Given the description of an element on the screen output the (x, y) to click on. 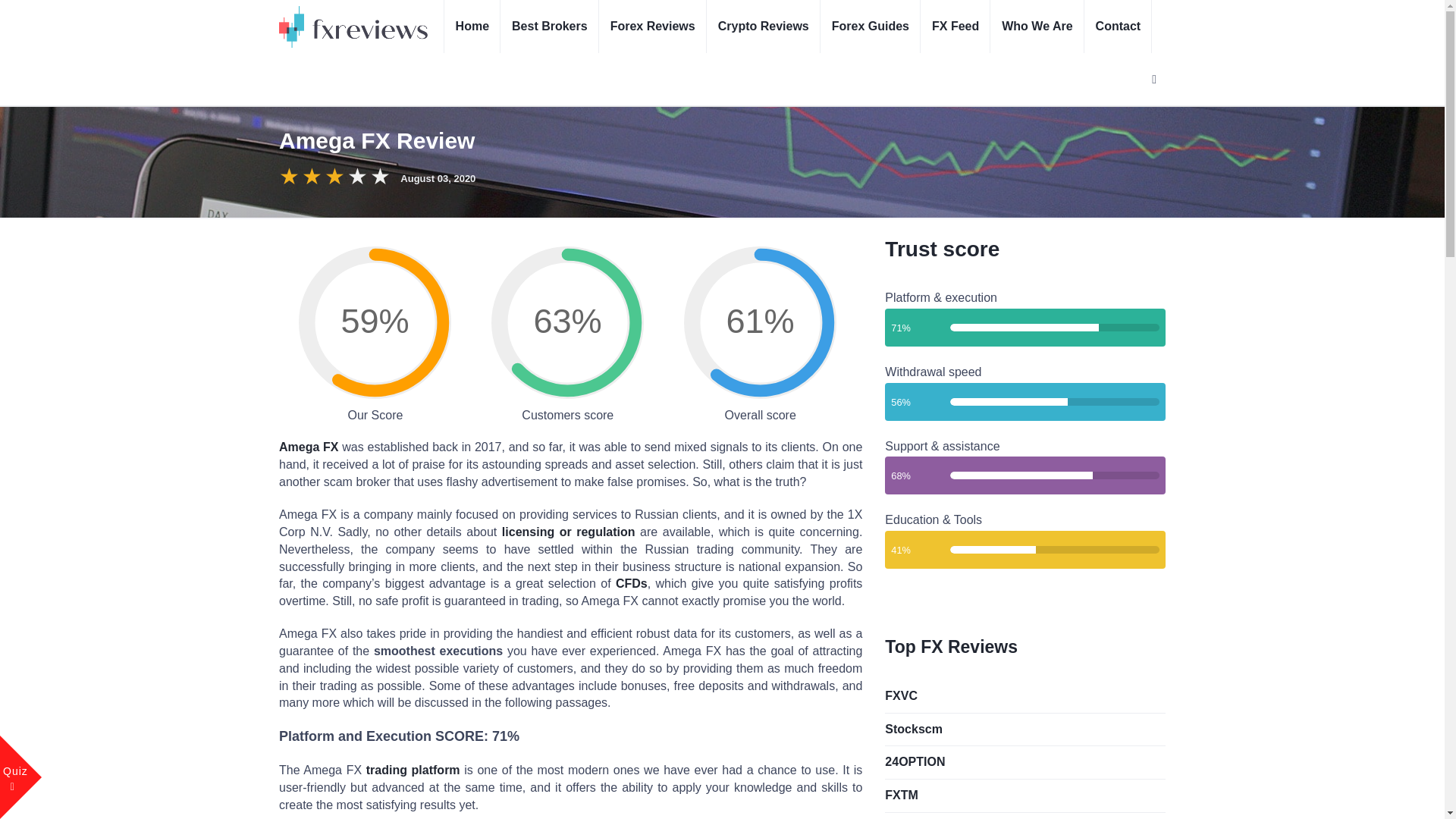
Contact (1118, 26)
Stockscm (1025, 729)
Forex Guides (870, 26)
licensing or regulation (568, 531)
Crypto Reviews (763, 26)
FXTM (1025, 795)
Home (472, 26)
Forex Reviews (652, 26)
24OPTION (1025, 762)
CFDs (631, 583)
